Given the description of an element on the screen output the (x, y) to click on. 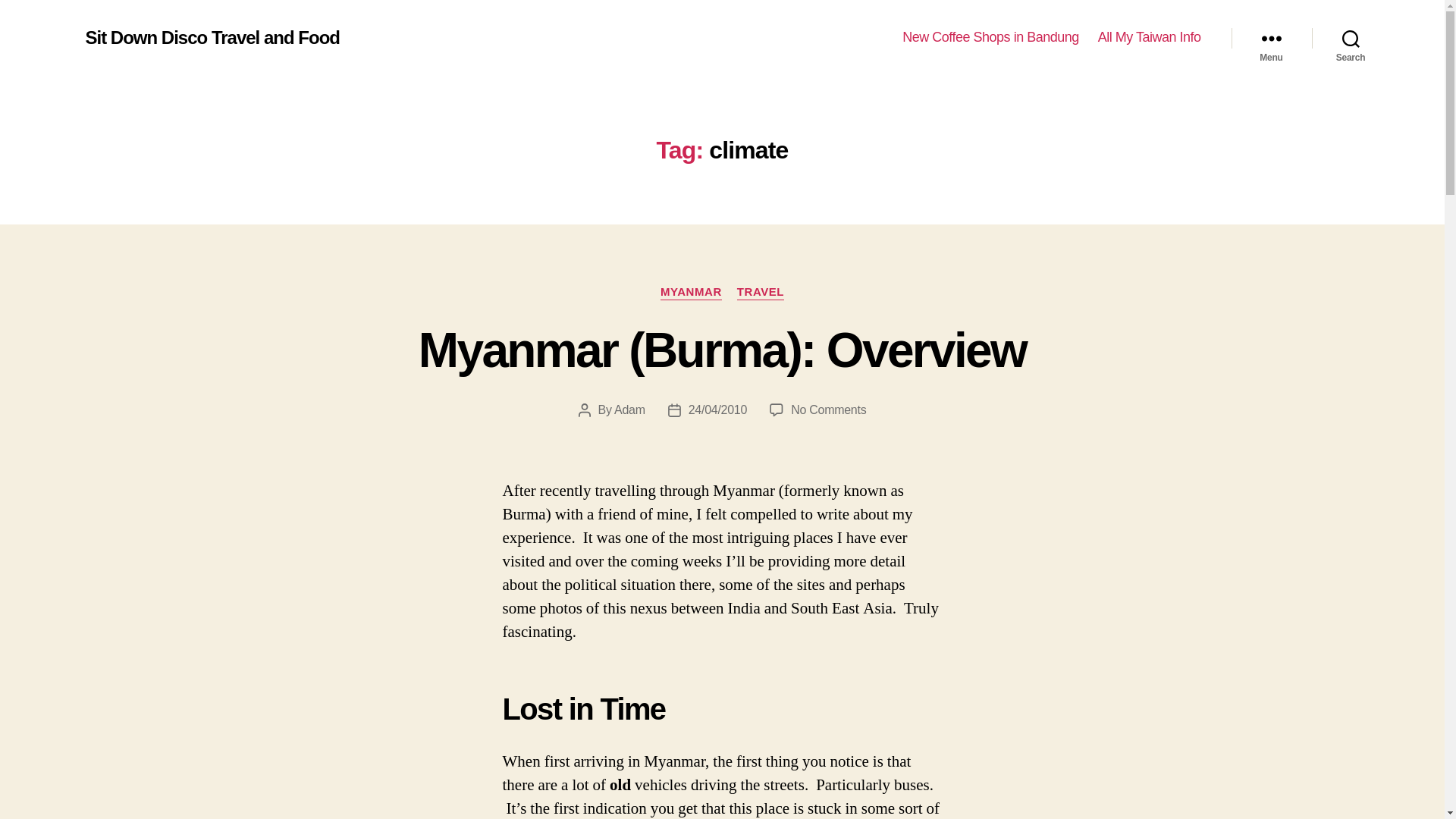
New Coffee Shops in Bandung (990, 37)
Menu (1271, 37)
All My Taiwan Info (1149, 37)
MYANMAR (691, 292)
Adam (629, 409)
Sit Down Disco Travel and Food (211, 37)
Search (1350, 37)
TRAVEL (760, 292)
